Given the description of an element on the screen output the (x, y) to click on. 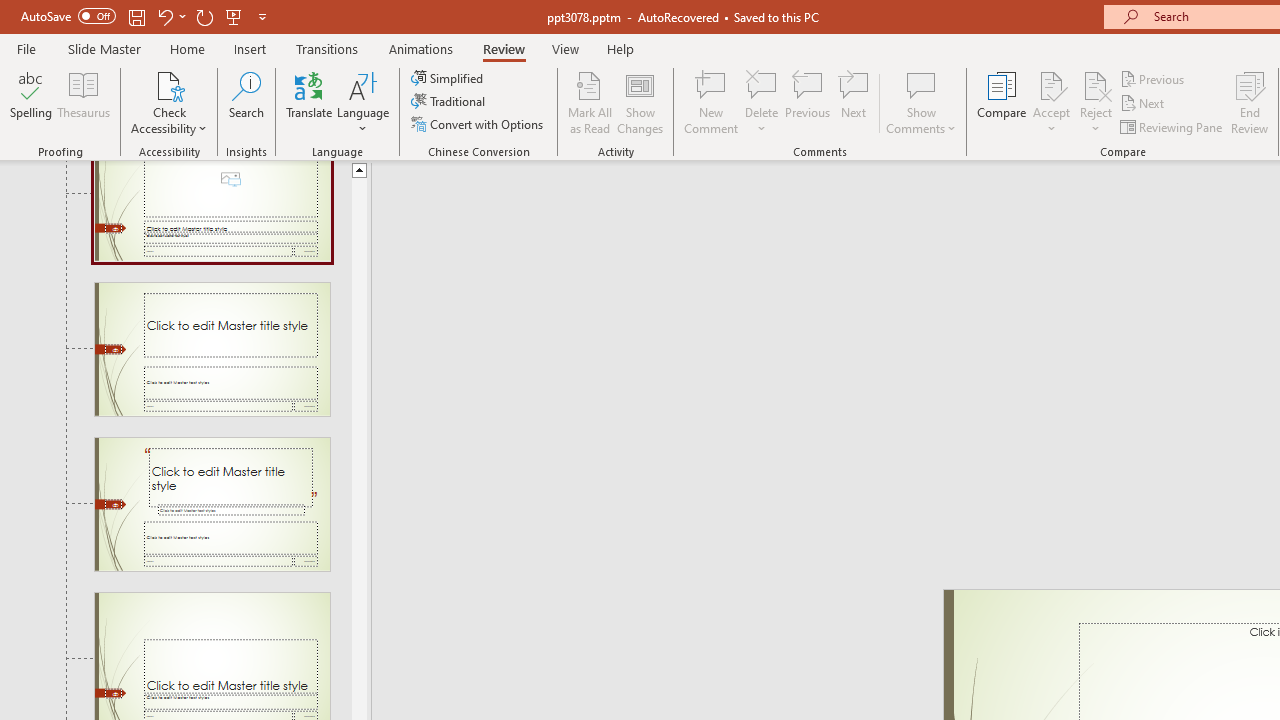
New Comment (711, 102)
Accept (1051, 102)
Check Accessibility (169, 84)
Translate (309, 102)
Next (1144, 103)
Search (246, 102)
Accept Change (1051, 84)
Spelling... (31, 102)
Delete (762, 84)
Show Comments (921, 84)
